Given the description of an element on the screen output the (x, y) to click on. 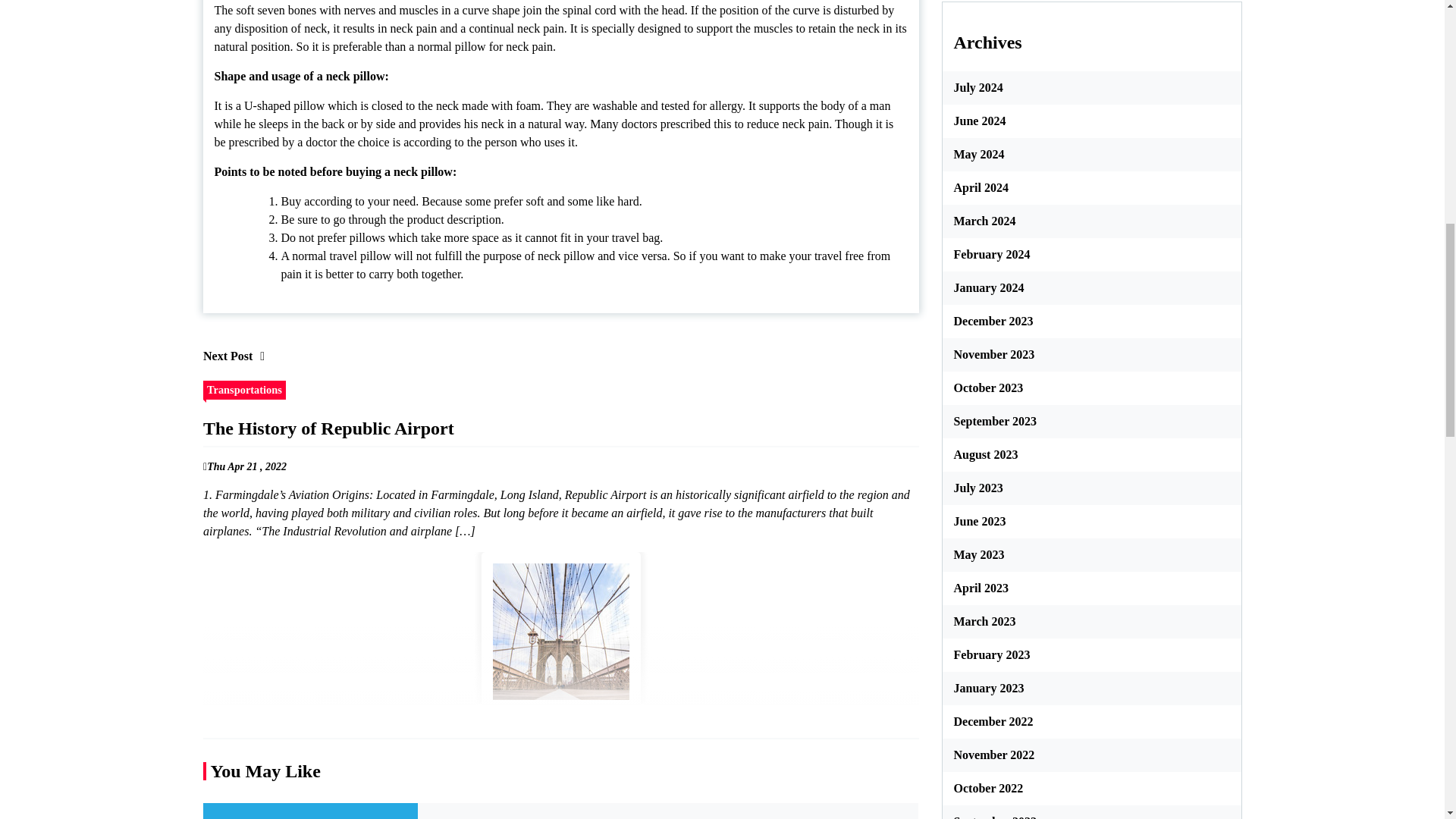
The History of Republic Airport (560, 631)
